Given the description of an element on the screen output the (x, y) to click on. 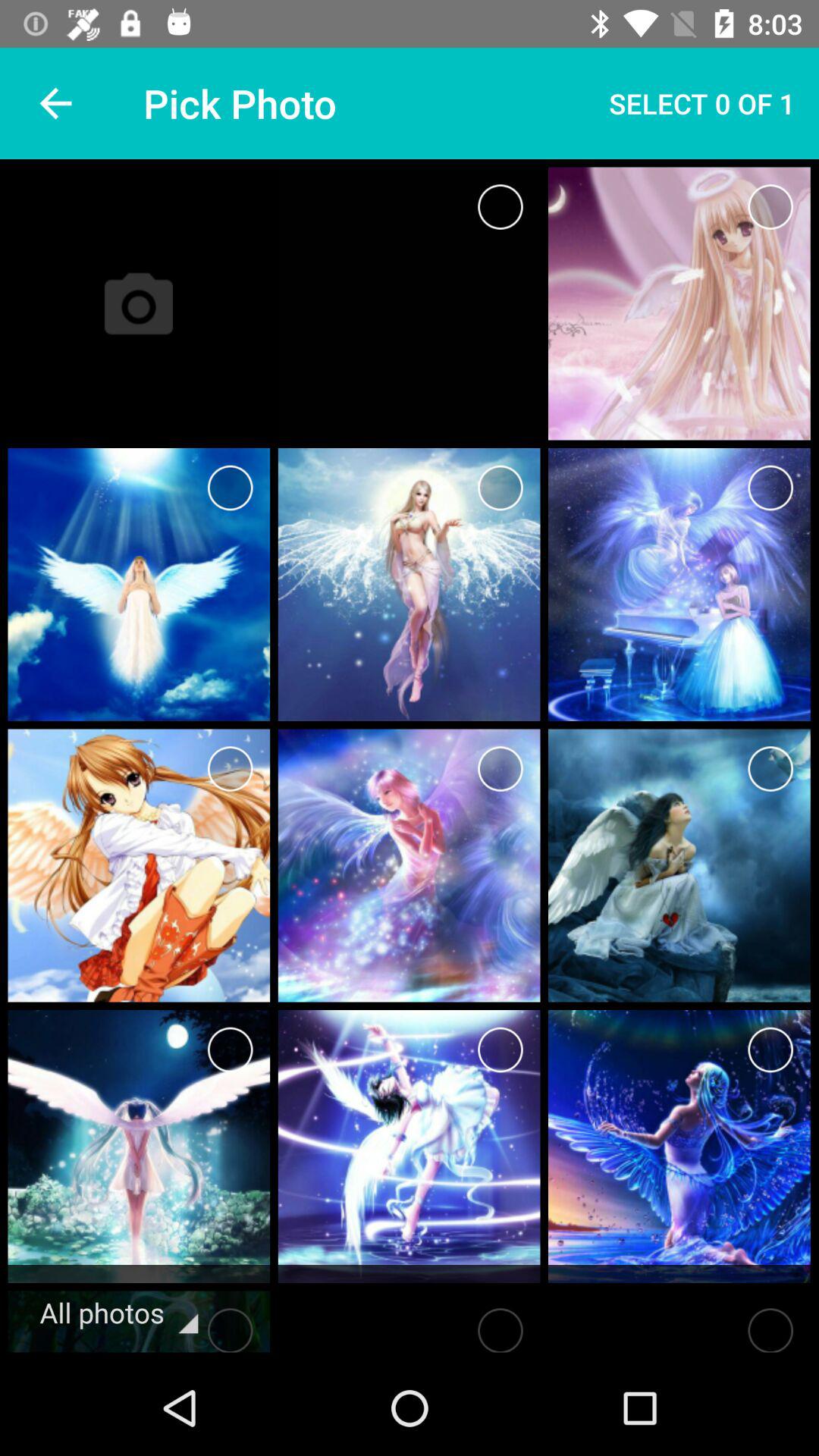
choose photo (500, 768)
